Given the description of an element on the screen output the (x, y) to click on. 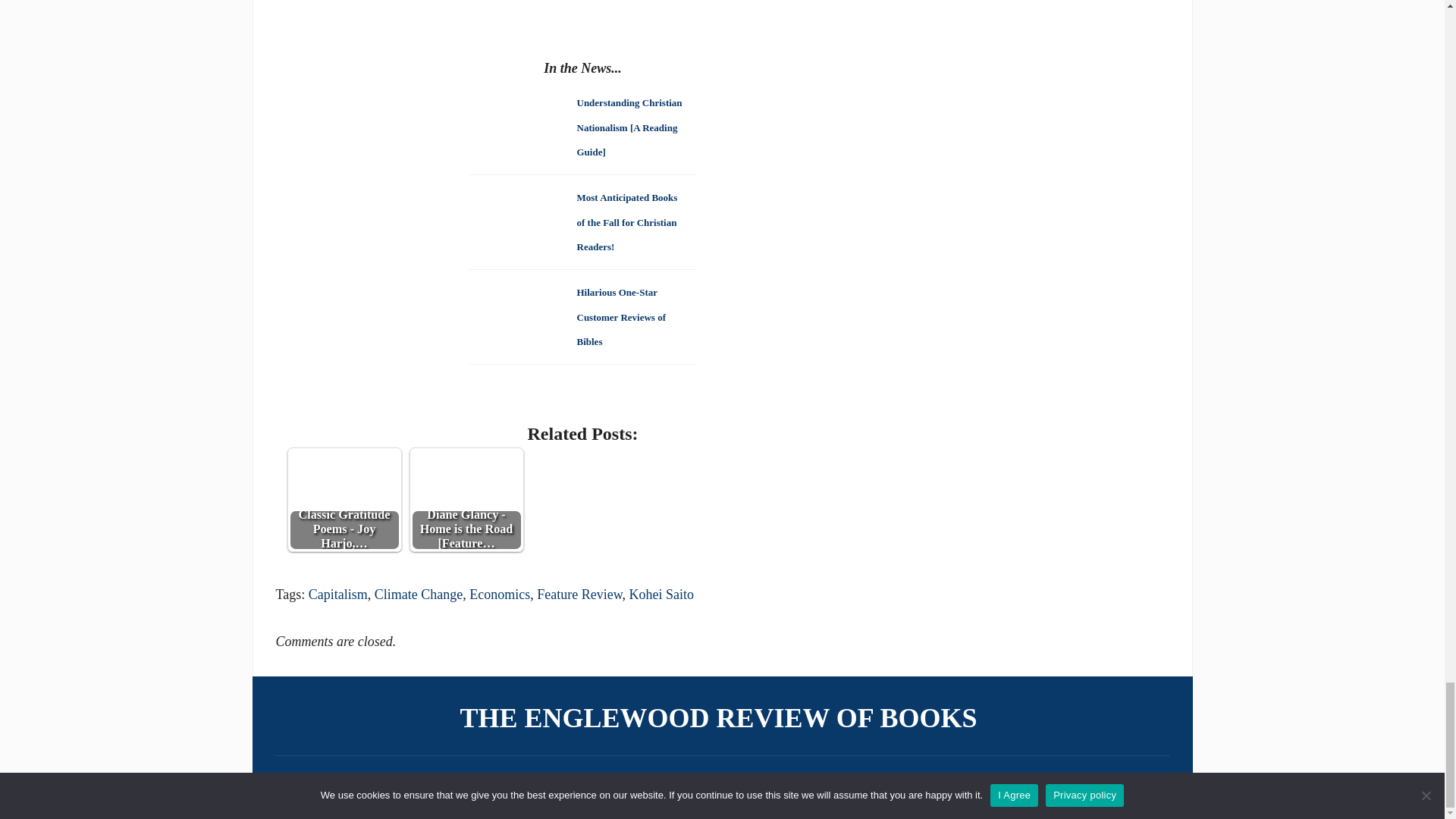
Feature Review (579, 594)
Hilarious One-Star Customer Reviews of Bibles (620, 315)
Economics (498, 594)
Most Anticipated Books of the Fall for Christian Readers! (626, 221)
Climate Change (418, 594)
Classic Gratitude Poems - Joy Harjo, Mary Oliver, MORE (344, 471)
Capitalism (338, 594)
Kohei Saito (661, 594)
